Given the description of an element on the screen output the (x, y) to click on. 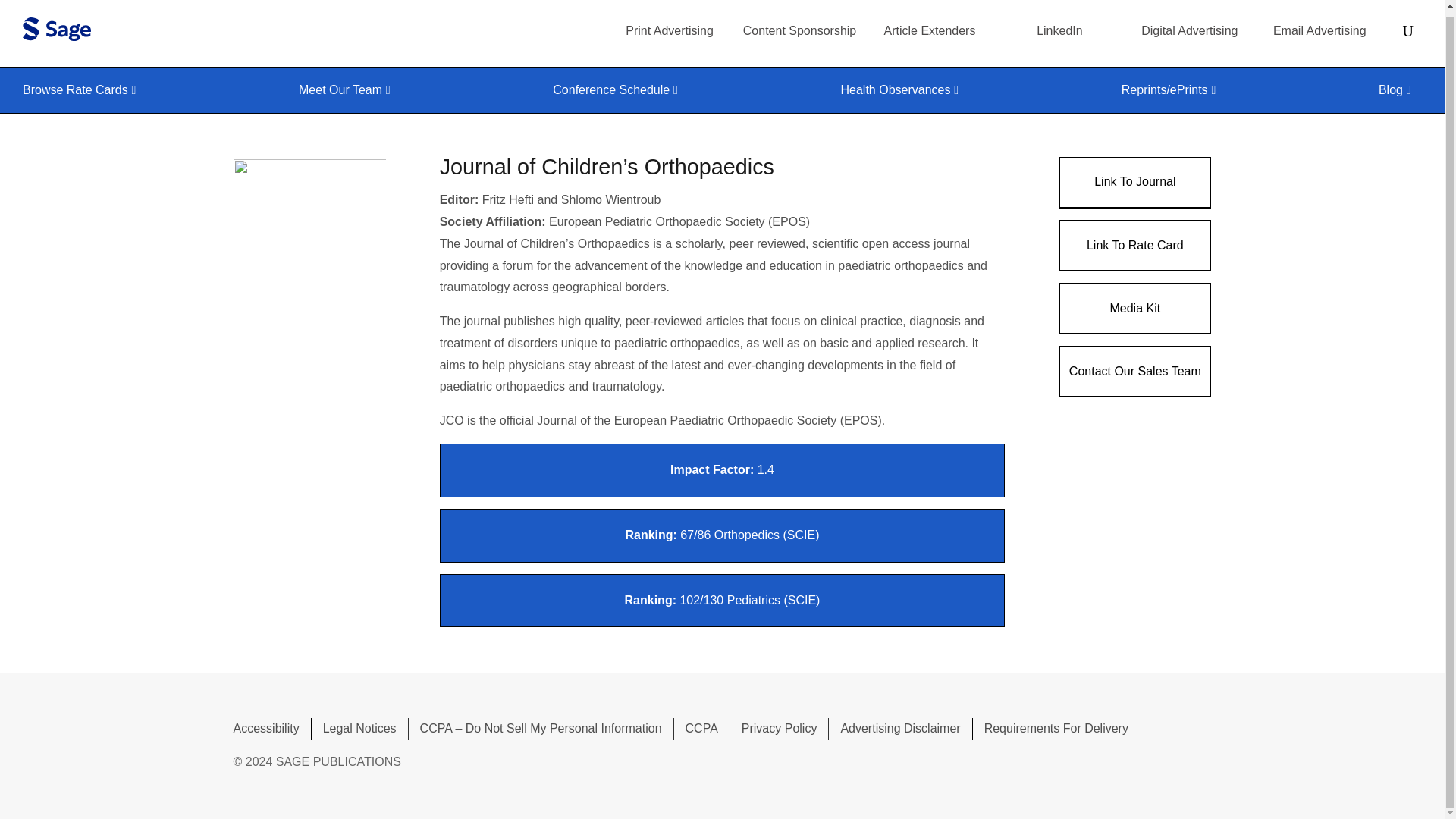
Email Advertising (1319, 31)
Article Extenders (929, 31)
Print Advertising (669, 31)
sage-logo-navy-on-white (56, 28)
Conference Schedule (620, 89)
Meet Our Team (349, 89)
Blog (1400, 89)
Health Observances (905, 89)
Content Sponsorship (799, 31)
Browse Rate Cards (85, 89)
Digital Advertising (1189, 31)
LinkedIn (1059, 31)
